Given the description of an element on the screen output the (x, y) to click on. 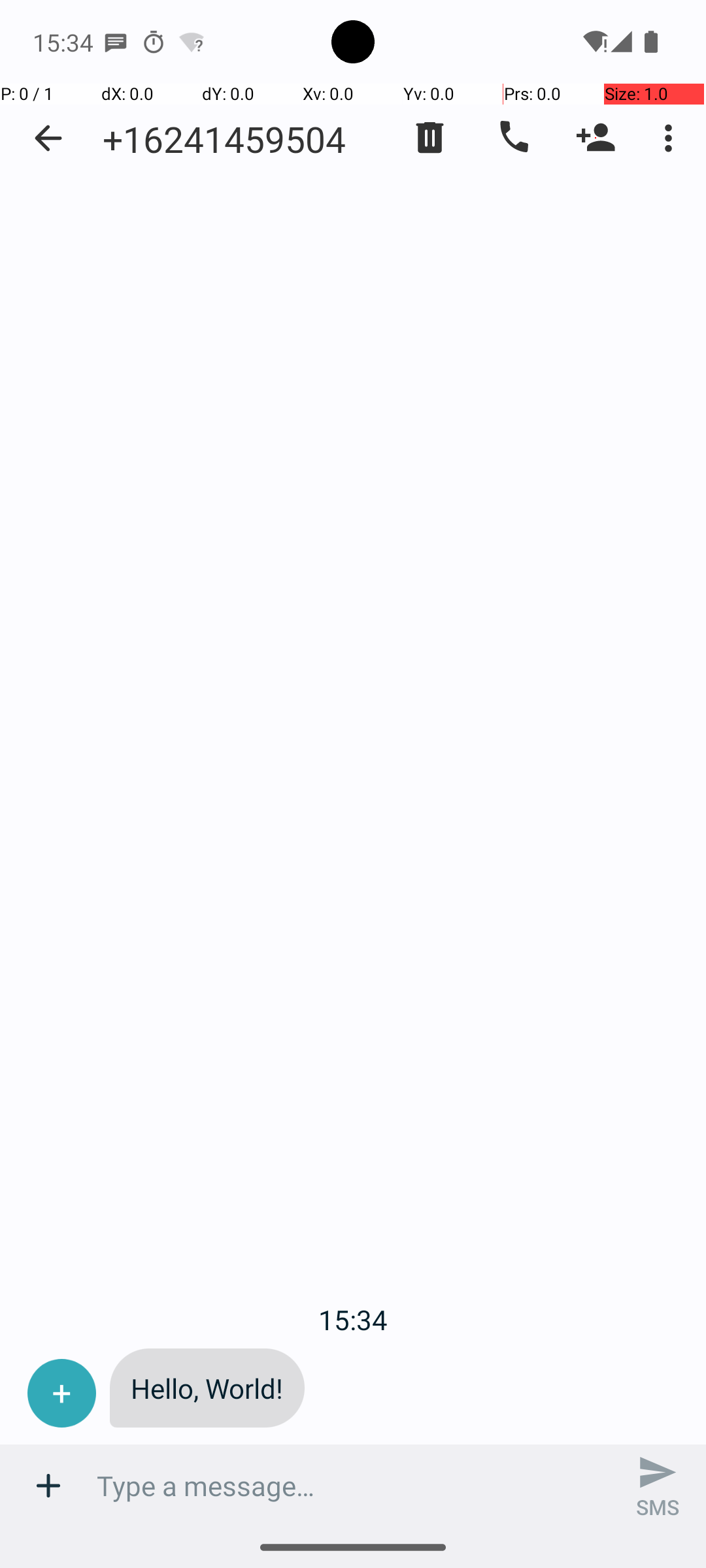
+16241459504 Element type: android.widget.TextView (223, 138)
Hello, World! Element type: android.widget.TextView (206, 1387)
